Given the description of an element on the screen output the (x, y) to click on. 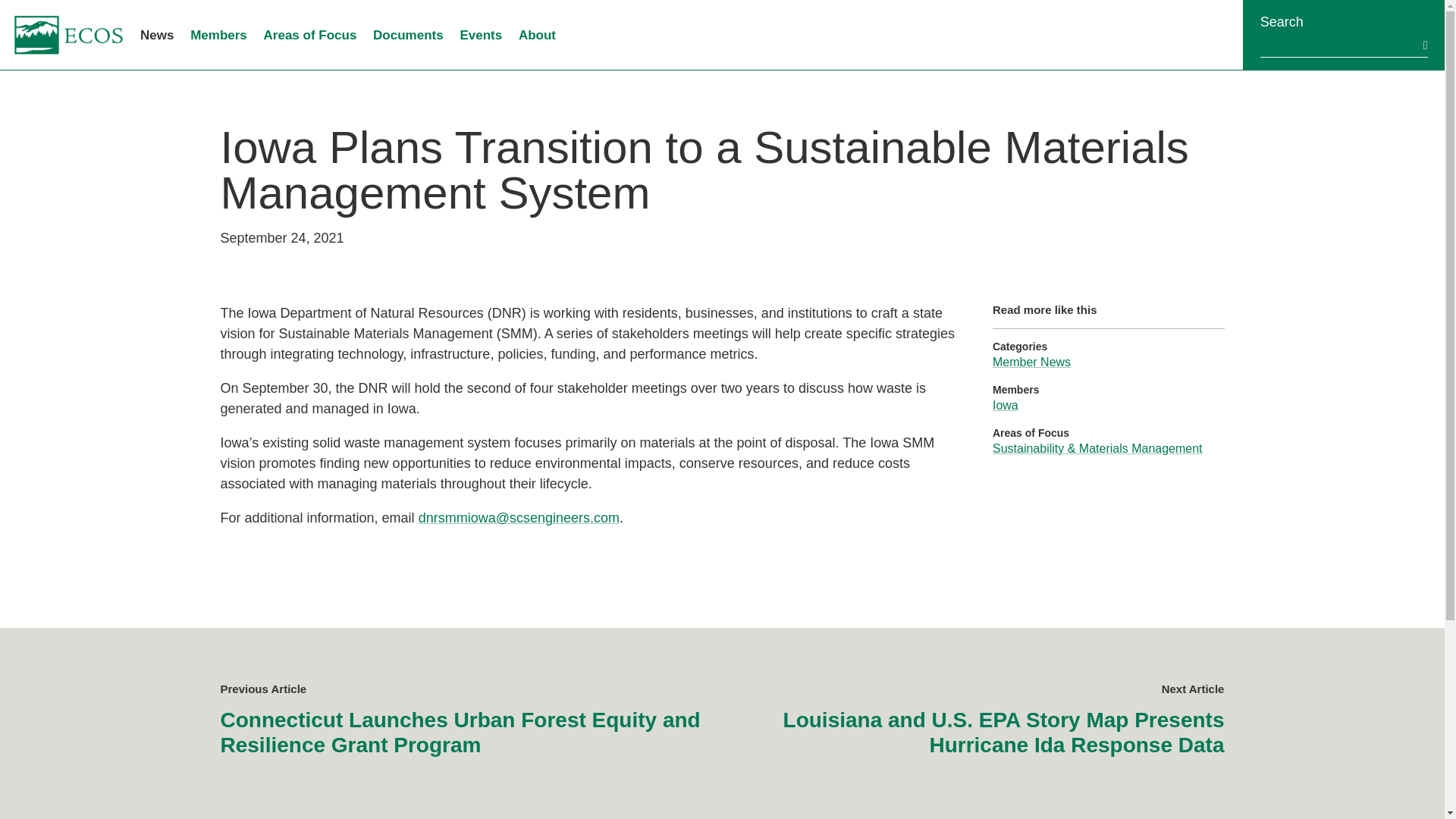
Iowa (1004, 404)
About (537, 34)
Member News (1031, 361)
News (156, 34)
Documents (408, 34)
Search for: (1339, 44)
Members (218, 34)
Events (481, 34)
Areas of Focus (309, 34)
